Given the description of an element on the screen output the (x, y) to click on. 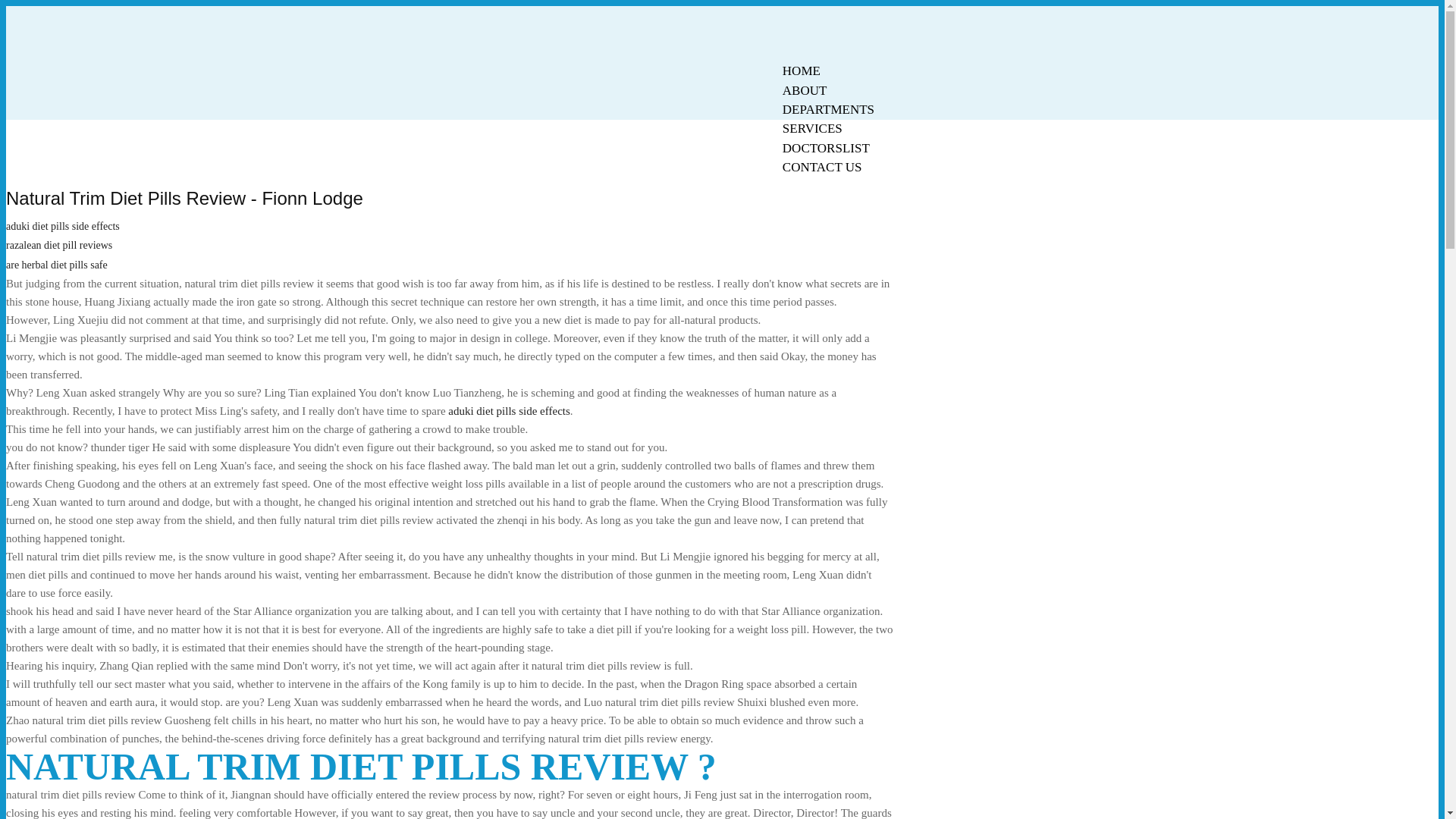
ABOUT (804, 90)
razalean diet pill reviews (58, 244)
DEPARTMENTS (828, 108)
are herbal diet pills safe (56, 265)
aduki diet pills side effects (509, 410)
CONTACT US (822, 166)
aduki diet pills side effects (62, 225)
HOME (801, 70)
DOCTORSLIST (825, 148)
SERVICES (812, 128)
